Given the description of an element on the screen output the (x, y) to click on. 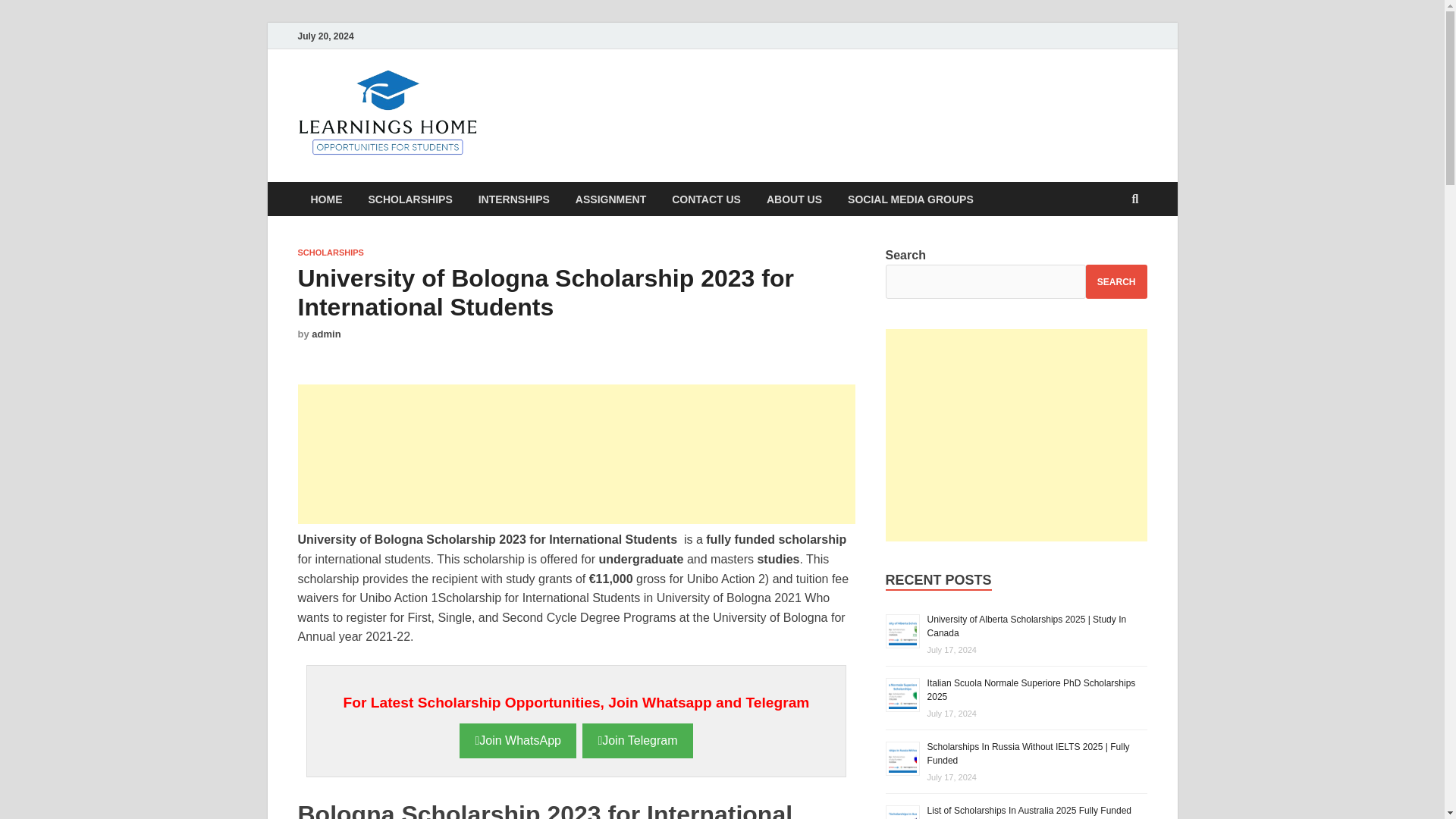
SOCIAL MEDIA GROUPS (910, 198)
SCHOLARSHIPS (329, 252)
SCHOLARSHIPS (409, 198)
Learnings Home (594, 100)
HOME (326, 198)
INTERNSHIPS (513, 198)
CONTACT US (706, 198)
admin (325, 333)
Join WhatsApp (517, 740)
ASSIGNMENT (610, 198)
Join Telegram (637, 740)
ABOUT US (794, 198)
Advertisement (575, 454)
Advertisement (1016, 435)
